Given the description of an element on the screen output the (x, y) to click on. 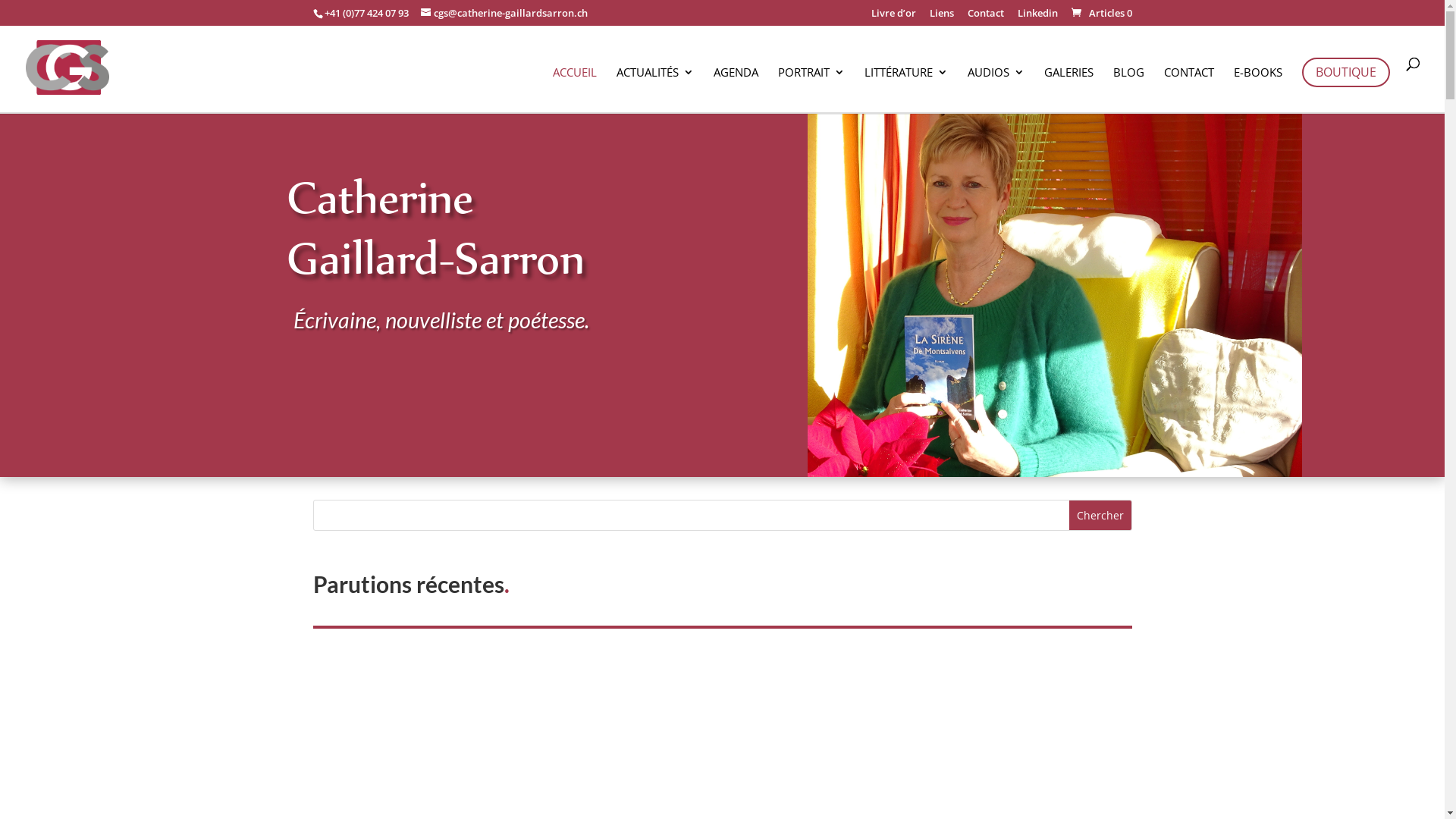
E-BOOKS Element type: text (1257, 89)
CONTACT Element type: text (1189, 89)
Contact Element type: text (985, 16)
BOUTIQUE Element type: text (1346, 72)
Chercher Element type: text (1100, 515)
BLOG Element type: text (1128, 89)
Liens Element type: text (941, 16)
AUDIOS Element type: text (995, 89)
ACCUEIL Element type: text (574, 89)
Articles 0 Element type: text (1100, 12)
GALERIES Element type: text (1068, 89)
AGENDA Element type: text (735, 89)
Linkedin Element type: text (1037, 16)
PORTRAIT Element type: text (811, 89)
cgs@catherine-gaillardsarron.ch Element type: text (503, 12)
